Given the description of an element on the screen output the (x, y) to click on. 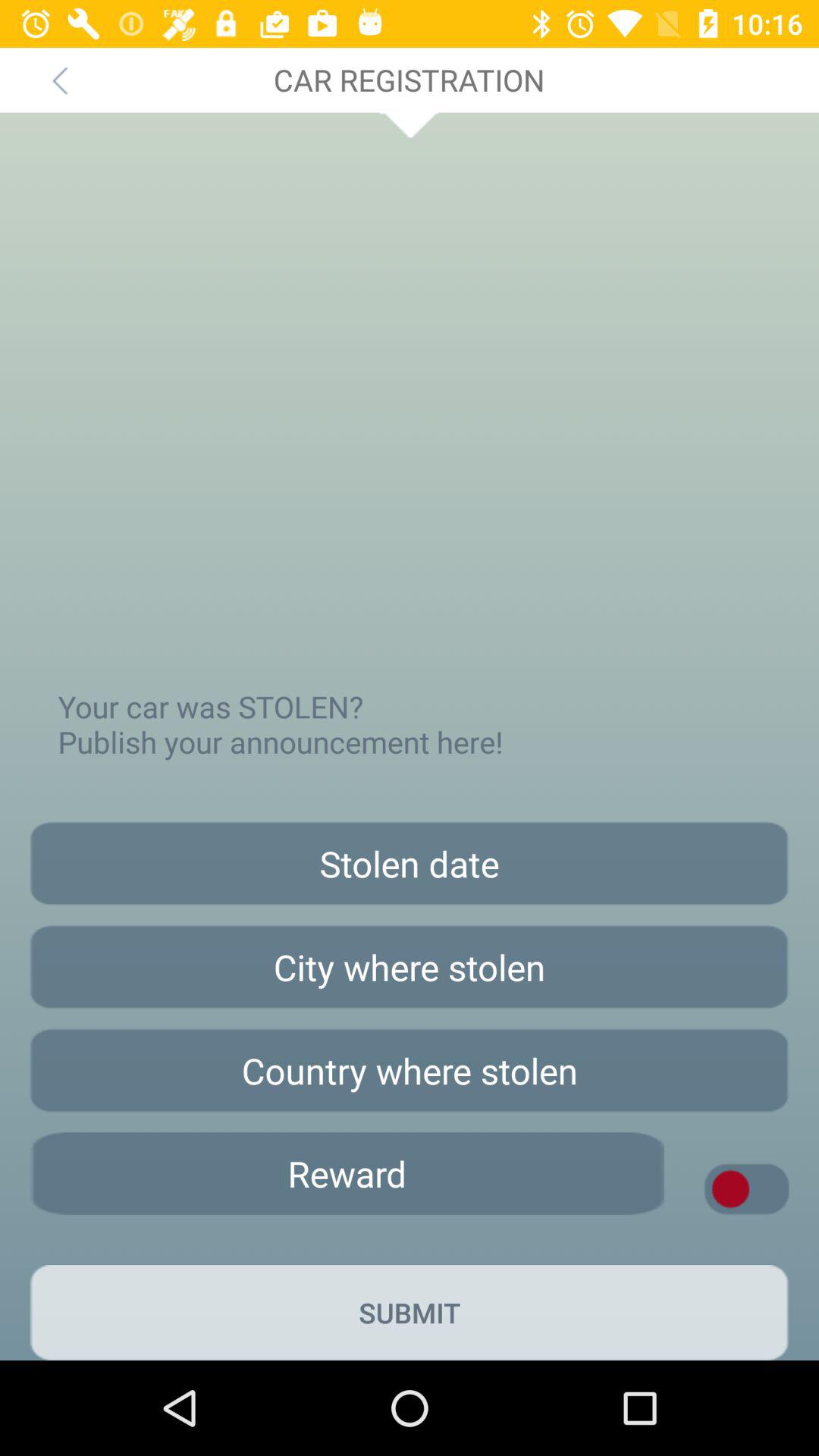
select country where stolen (409, 1070)
